Given the description of an element on the screen output the (x, y) to click on. 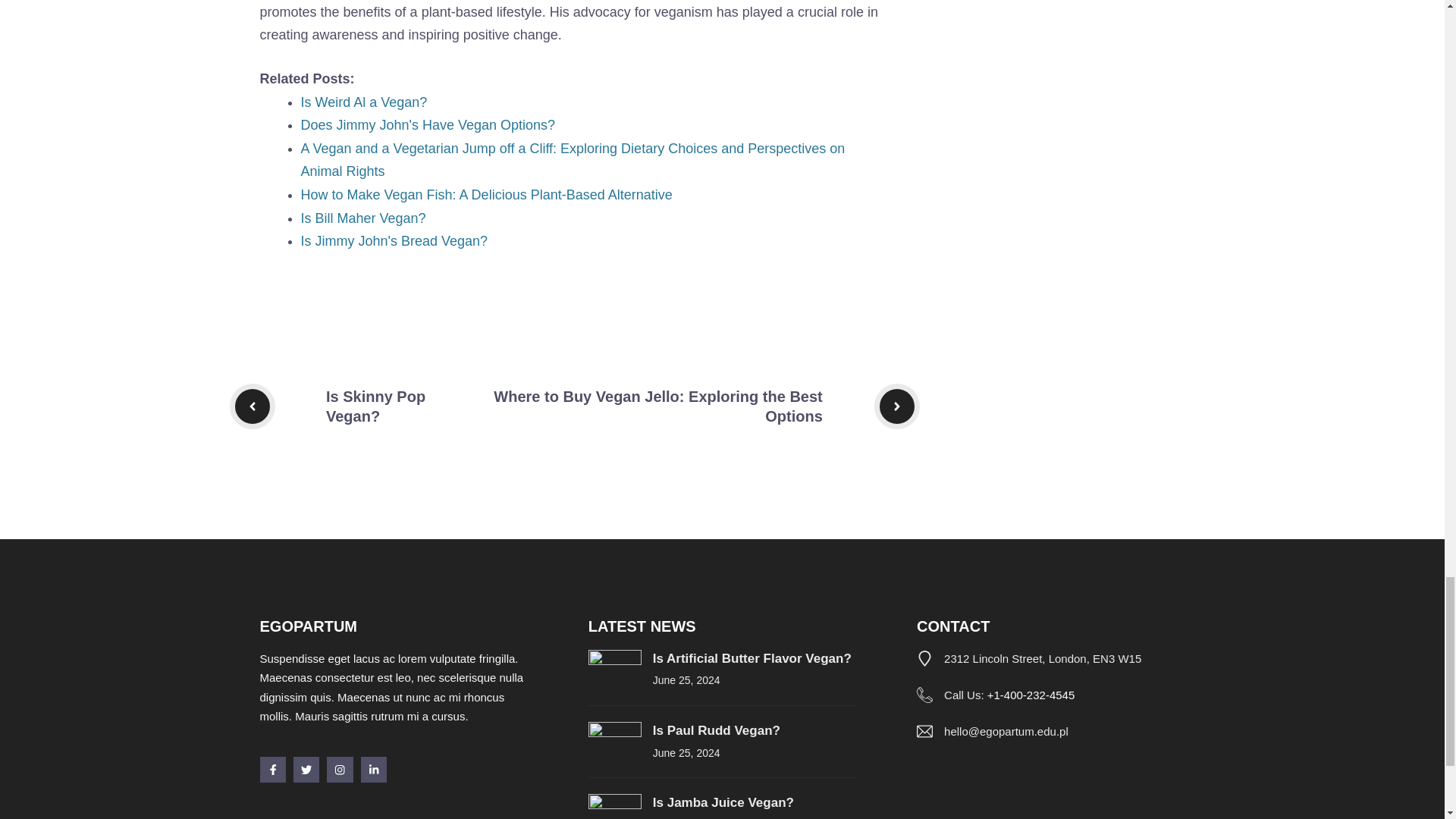
How to Make Vegan Fish: A Delicious Plant-Based Alternative (485, 194)
Does Jimmy John's Have Vegan Options? (426, 124)
Is Weird Al a Vegan? (362, 102)
Is Skinny Pop Vegan? (375, 406)
Where to Buy Vegan Jello: Exploring the Best Options (657, 406)
Is Bill Maher Vegan? (362, 218)
Is Jimmy John's Bread Vegan? (393, 240)
